Given the description of an element on the screen output the (x, y) to click on. 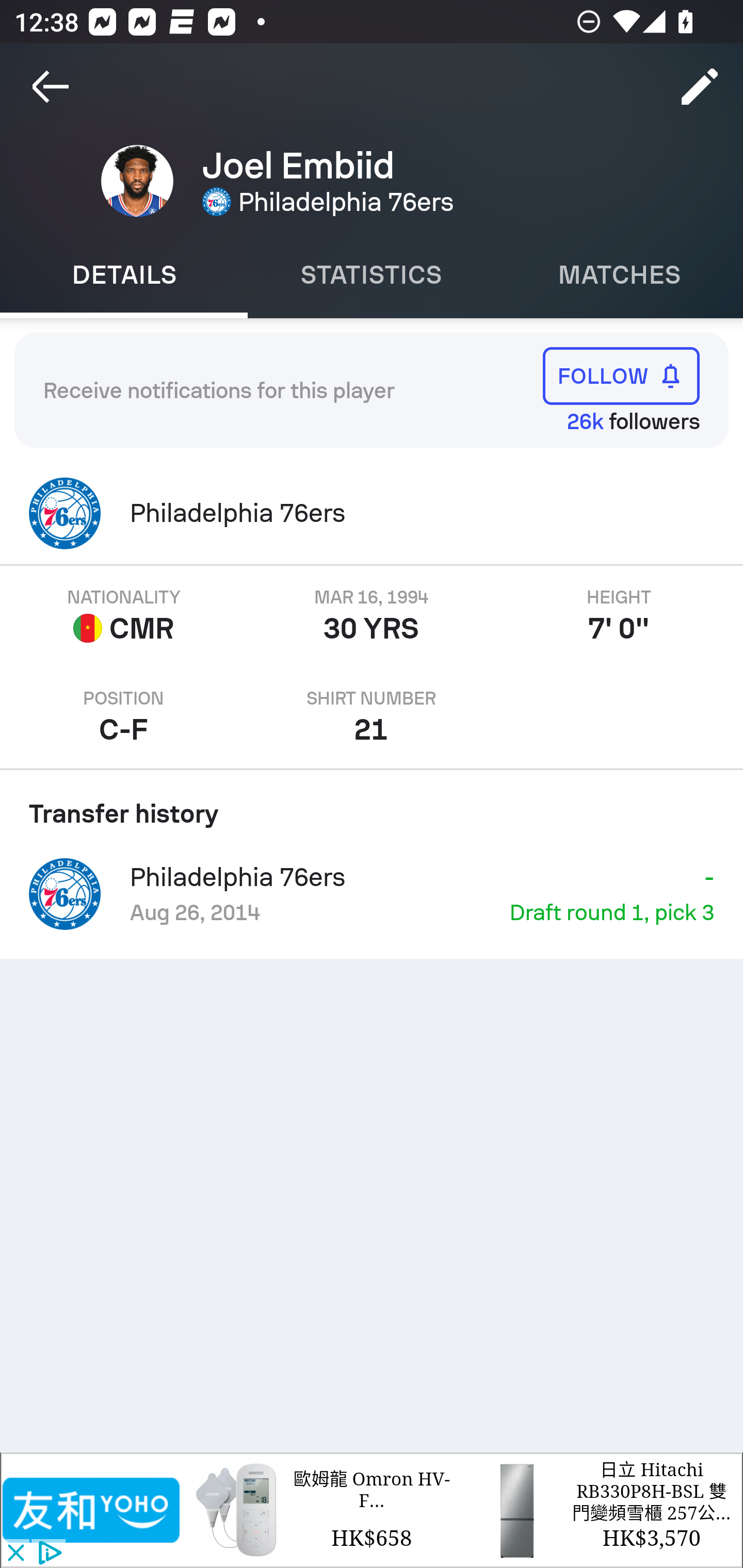
Navigate up (50, 86)
Edit (699, 86)
Statistics STATISTICS (371, 275)
Matches MATCHES (619, 275)
FOLLOW (621, 375)
Philadelphia 76ers (371, 513)
NATIONALITY CMR (123, 616)
POSITION C-F (123, 717)
Transfer history (371, 806)
   (91, 1509)
close_button (14, 1553)
privacy_small (47, 1553)
